Given the description of an element on the screen output the (x, y) to click on. 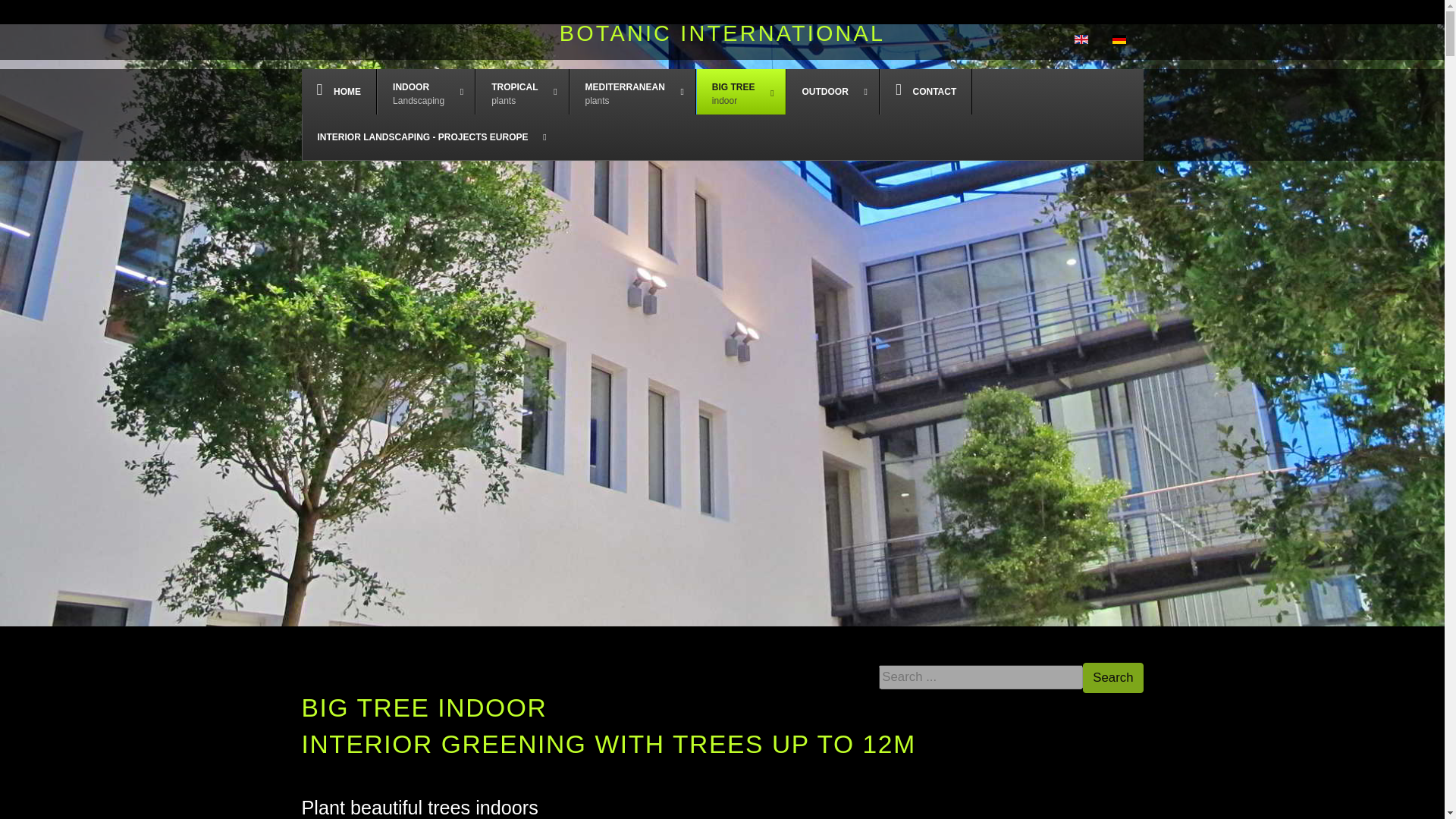
HOME (632, 91)
Deutsch (339, 91)
BOTANIC INTERNATIONAL (1118, 39)
